Given the description of an element on the screen output the (x, y) to click on. 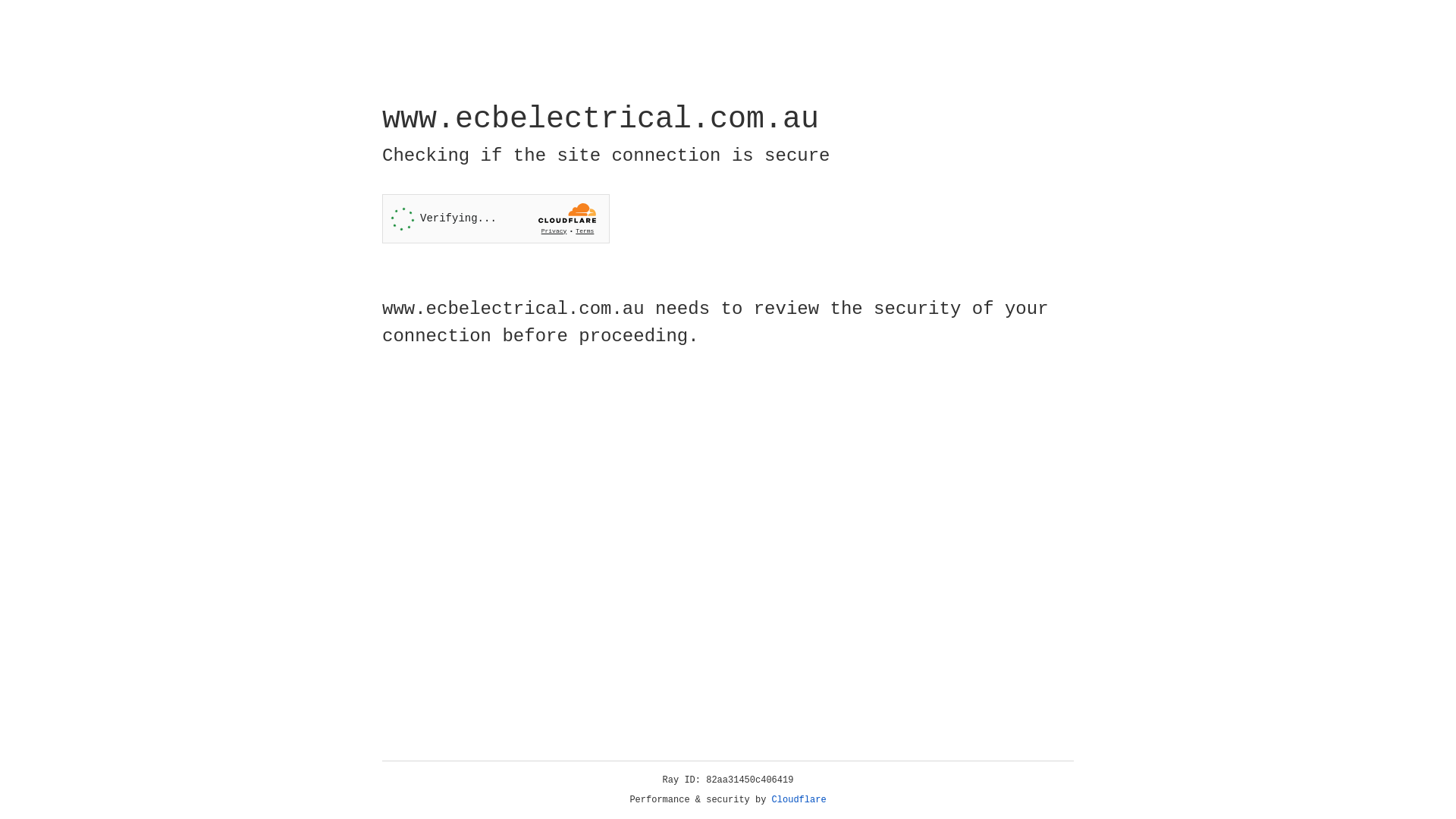
Cloudflare Element type: text (798, 799)
Widget containing a Cloudflare security challenge Element type: hover (495, 218)
